Given the description of an element on the screen output the (x, y) to click on. 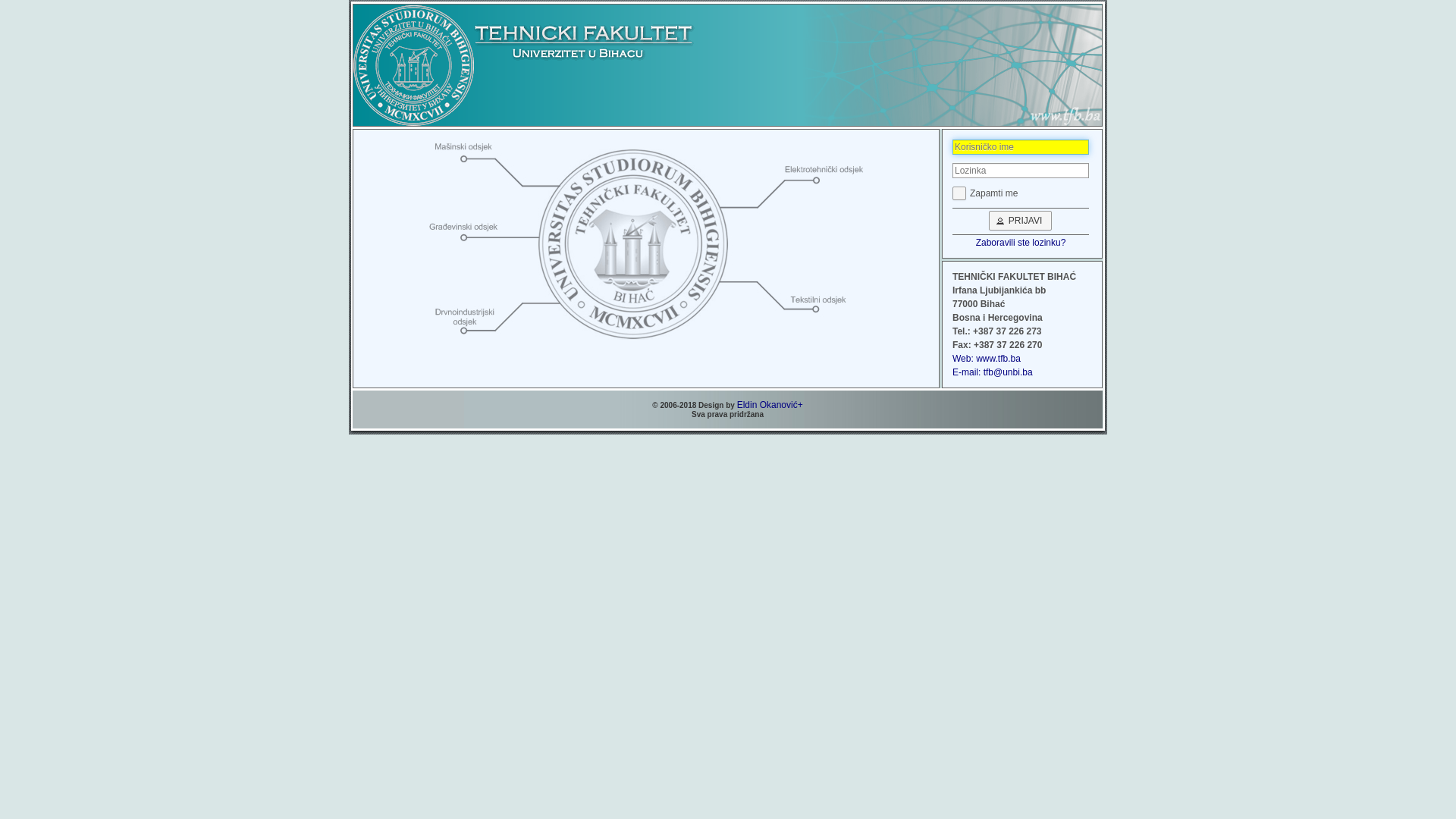
PRIJAVI Element type: text (1020, 220)
Zaboravili ste lozinku? Element type: text (1020, 242)
E-mail: tfb@unbi.ba Element type: text (992, 372)
Web: www.tfb.ba Element type: text (986, 358)
